Given the description of an element on the screen output the (x, y) to click on. 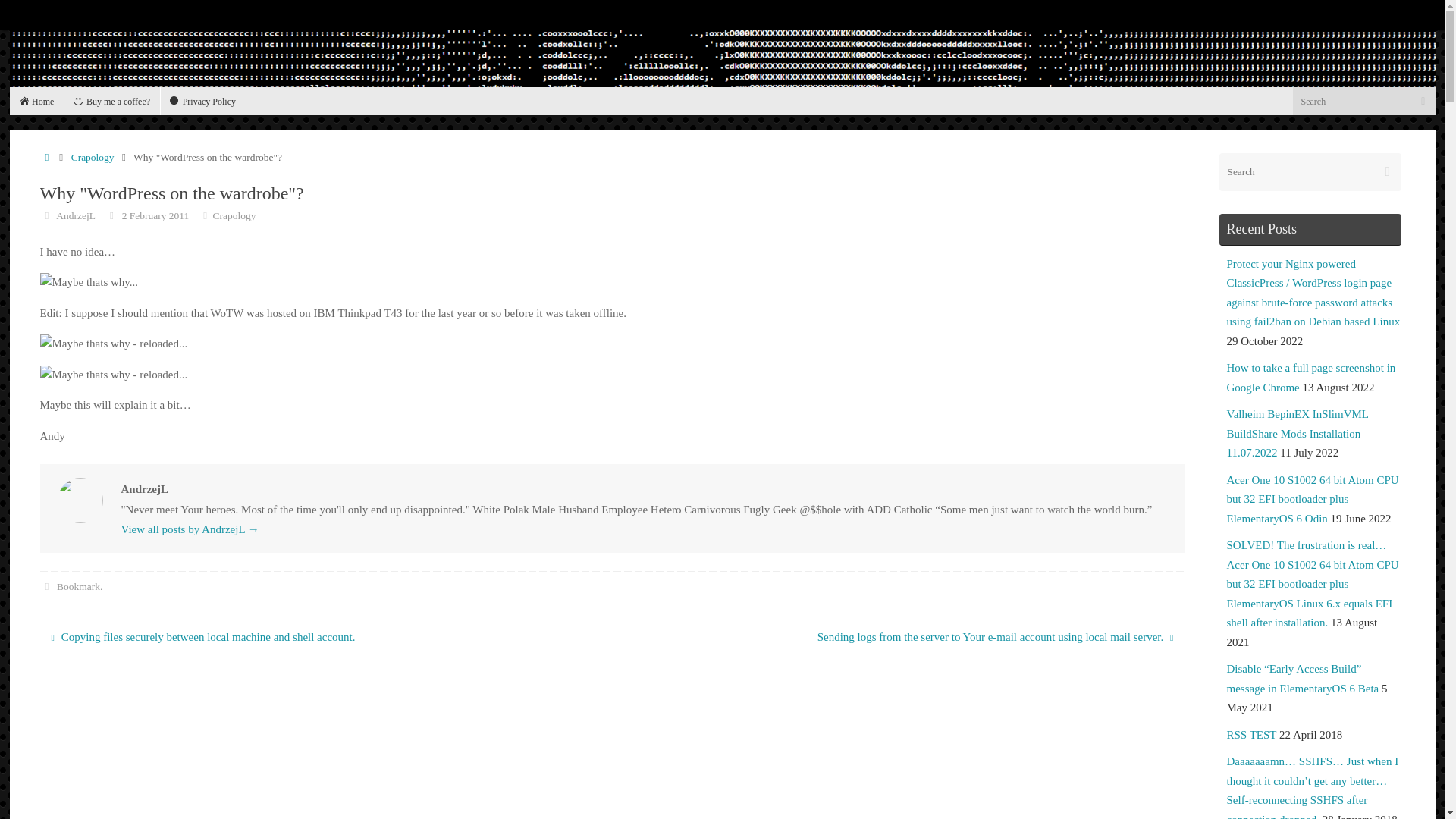
Categories (205, 215)
How to take a full page screenshot in Google Chrome (1311, 377)
Bookmark (78, 586)
Date (111, 215)
View all posts by AndrzejL (76, 215)
Crapology (93, 156)
Buy me a coffee? (112, 100)
Home (36, 100)
RSS TEST (1251, 734)
